Given the description of an element on the screen output the (x, y) to click on. 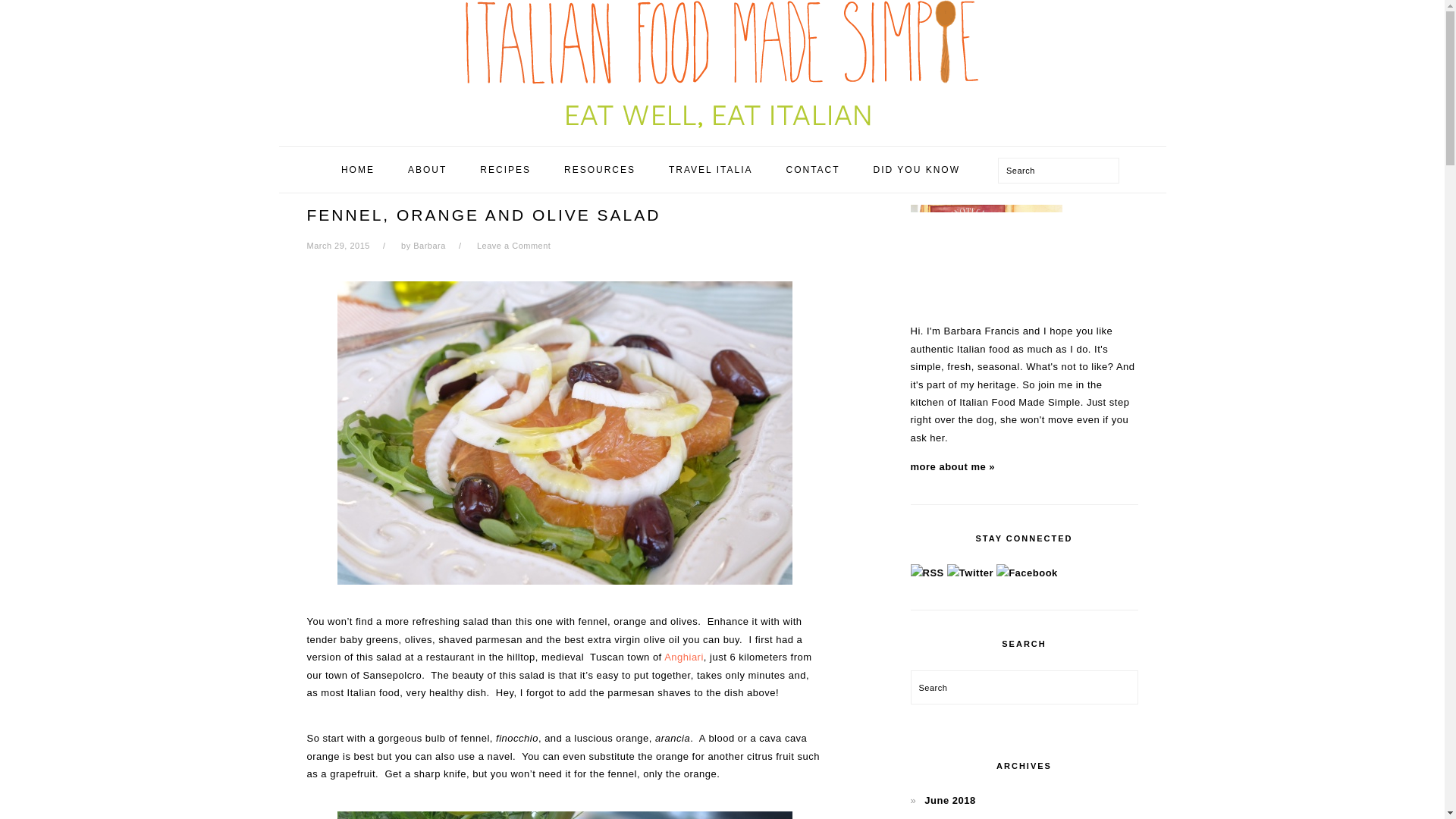
ABOUT (427, 169)
DID YOU KNOW (916, 169)
Italian Food Made Simple (721, 131)
TRAVEL ITALIA (710, 169)
Facebook (1026, 572)
Leave a Comment (513, 245)
HOME (357, 169)
